Given the description of an element on the screen output the (x, y) to click on. 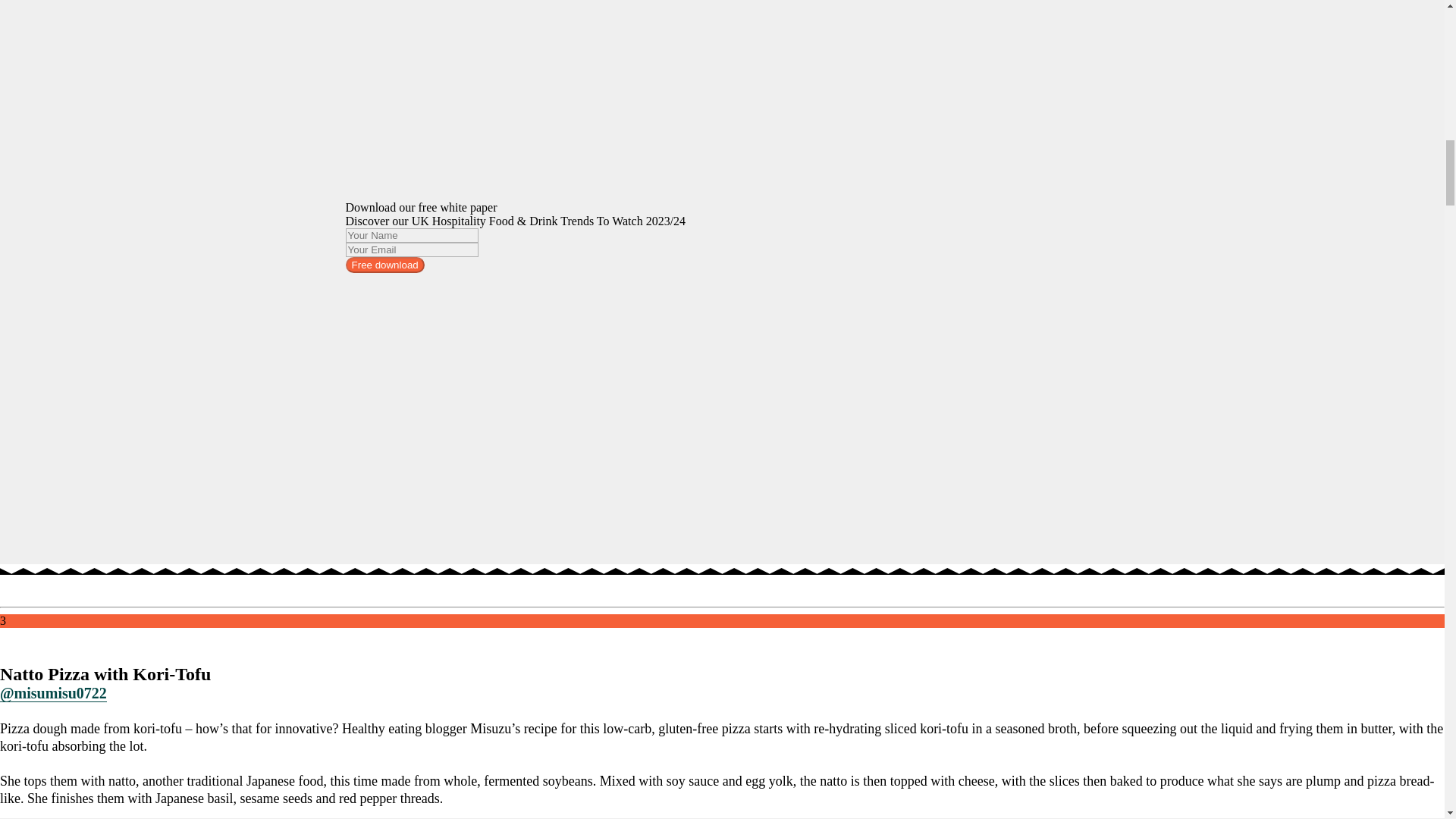
Free download (385, 264)
